Given the description of an element on the screen output the (x, y) to click on. 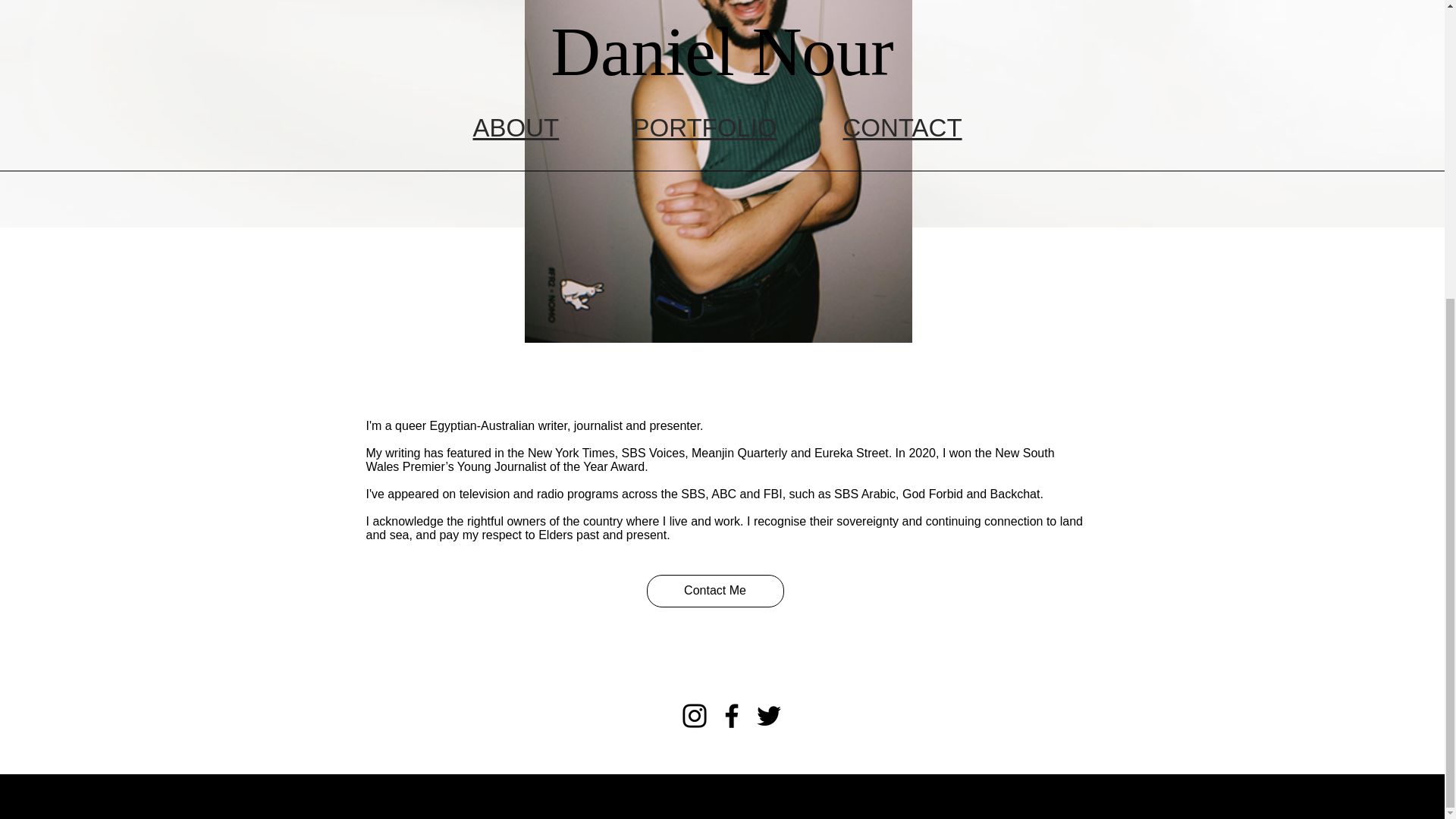
Contact Me (714, 590)
